Given the description of an element on the screen output the (x, y) to click on. 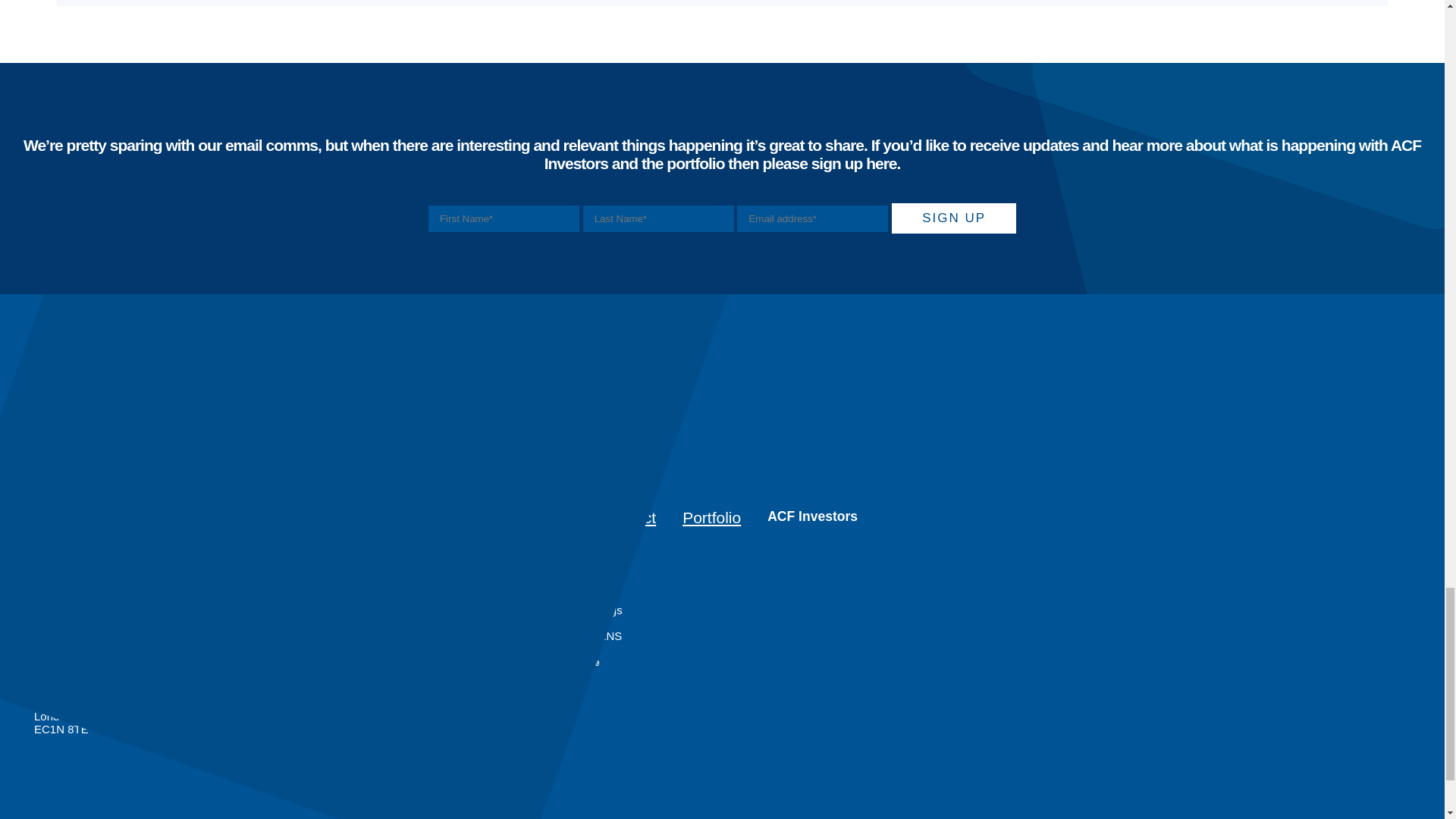
Investment Committee and Board (84, 557)
Sign up (953, 218)
Sign up (953, 218)
Overview (93, 537)
About (21, 517)
Testimonials (84, 578)
